Given the description of an element on the screen output the (x, y) to click on. 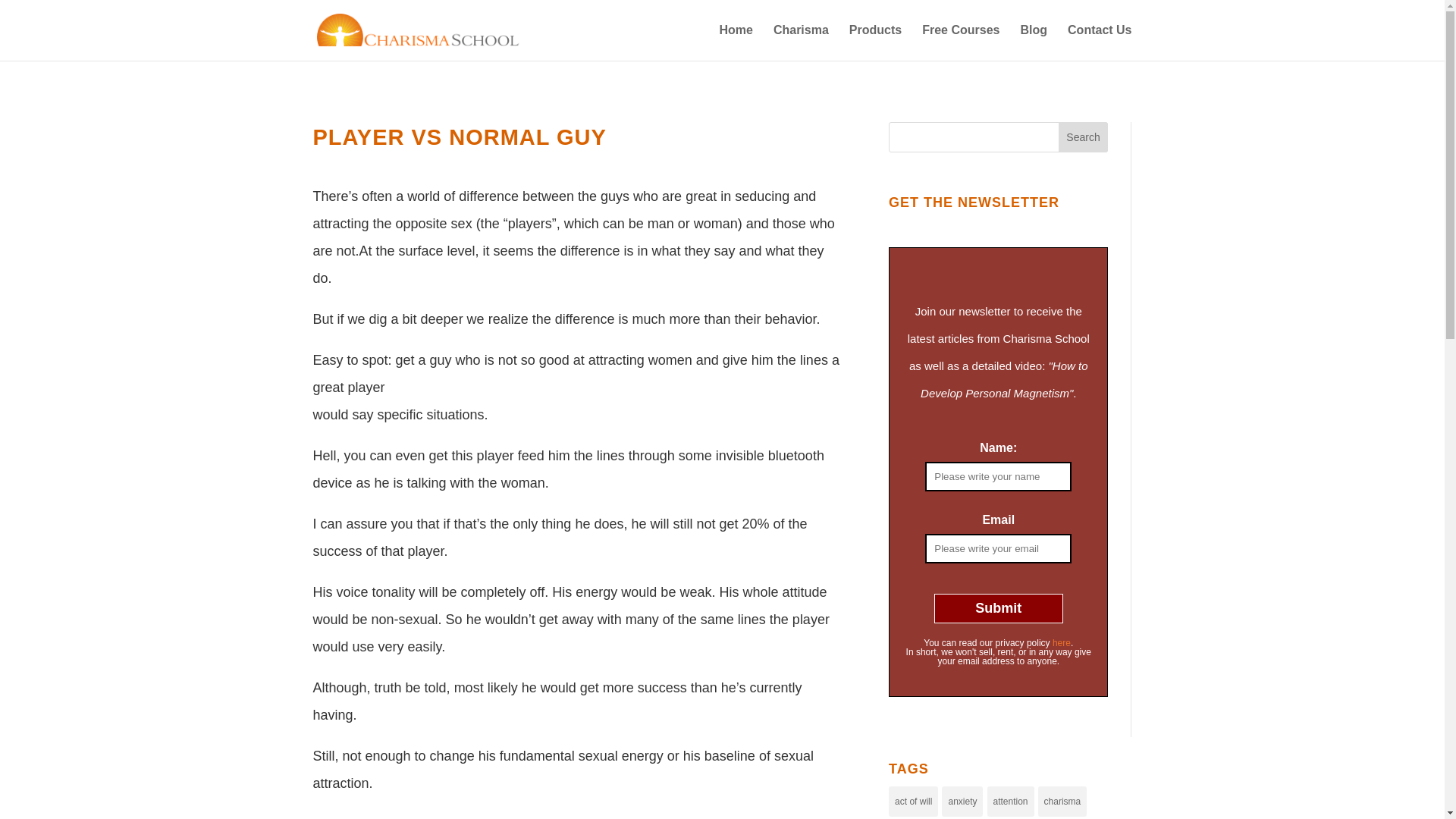
Search (1083, 137)
act of will (912, 801)
here (1061, 643)
Free Courses (959, 42)
charisma (1062, 801)
Submit (998, 608)
attention (1010, 801)
Charisma (800, 42)
Search (1083, 137)
Contact Us (1099, 42)
Home (735, 42)
anxiety (962, 801)
Products (874, 42)
